Given the description of an element on the screen output the (x, y) to click on. 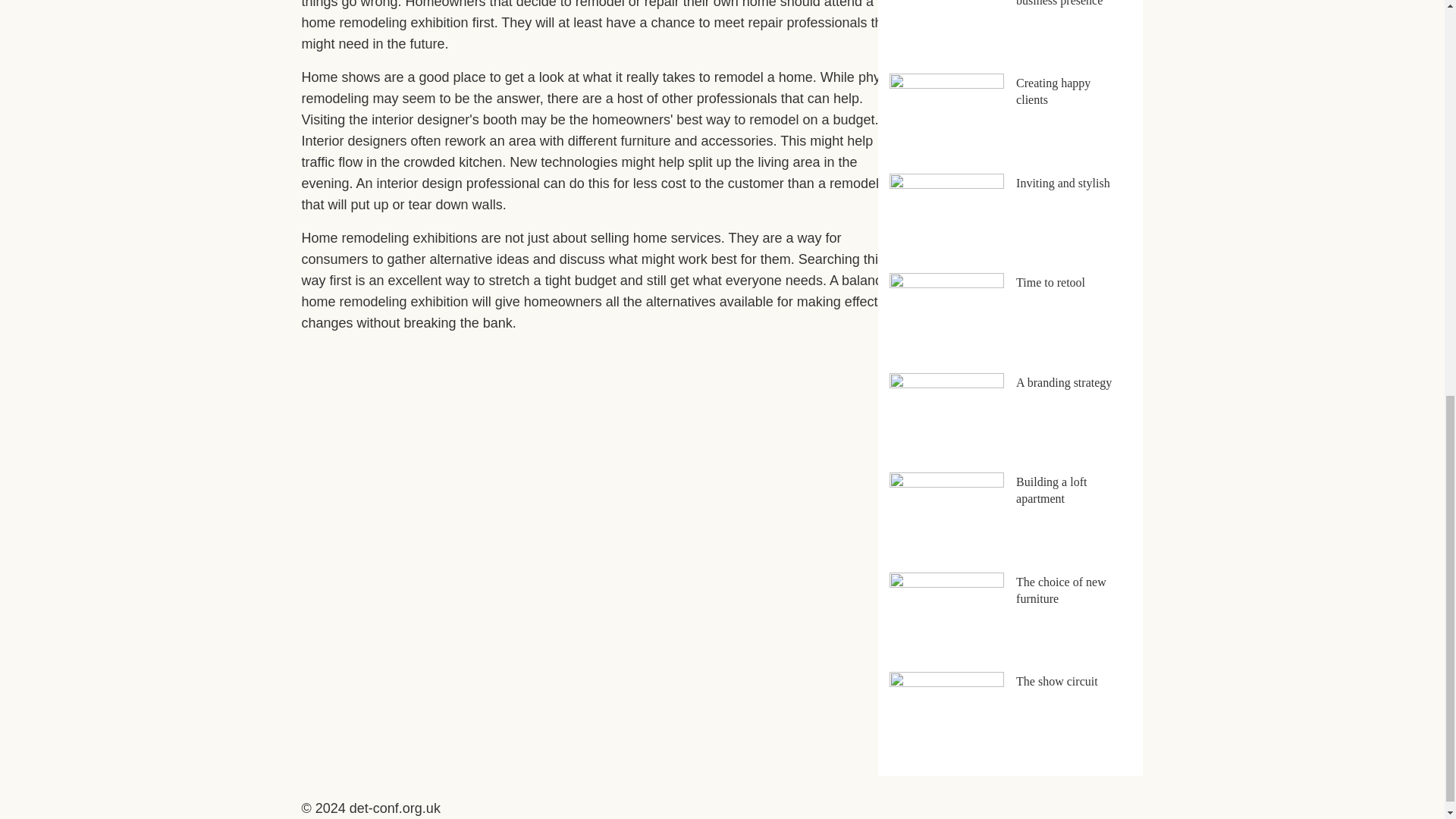
Building a loft apartment (1051, 490)
Creating happy clients (1053, 91)
A branding strategy (1064, 382)
det-conf.org.uk (395, 807)
Inviting and stylish (1062, 182)
The show circuit (1056, 680)
Time to retool (1050, 282)
Forming an online business presence (1060, 3)
The choice of new furniture (1061, 590)
